Given the description of an element on the screen output the (x, y) to click on. 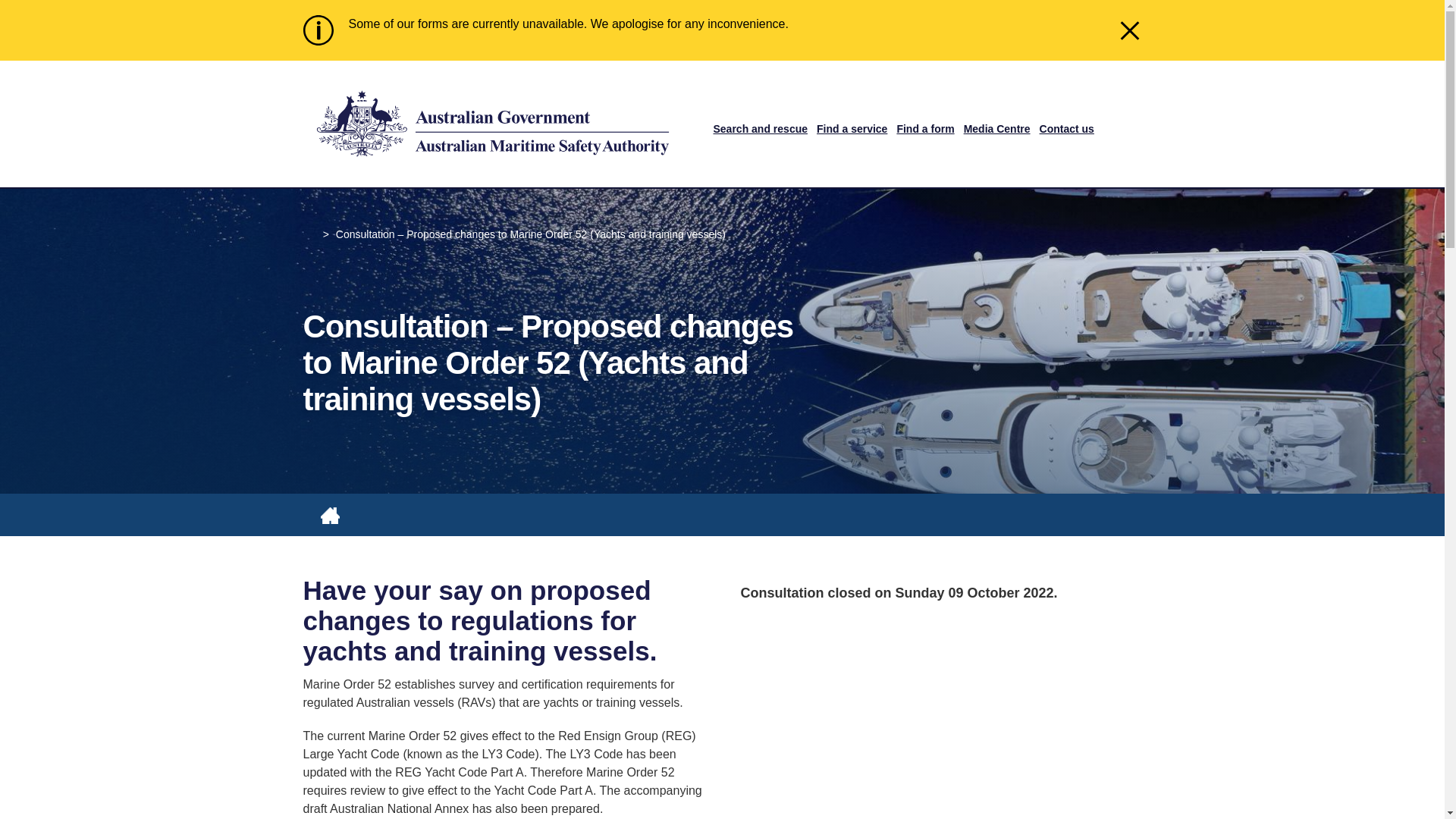
Find a service (851, 128)
Contact us (1066, 128)
Find a form (924, 128)
Search and rescue (760, 128)
Media Centre (996, 128)
Skip to main content (721, 1)
